Given the description of an element on the screen output the (x, y) to click on. 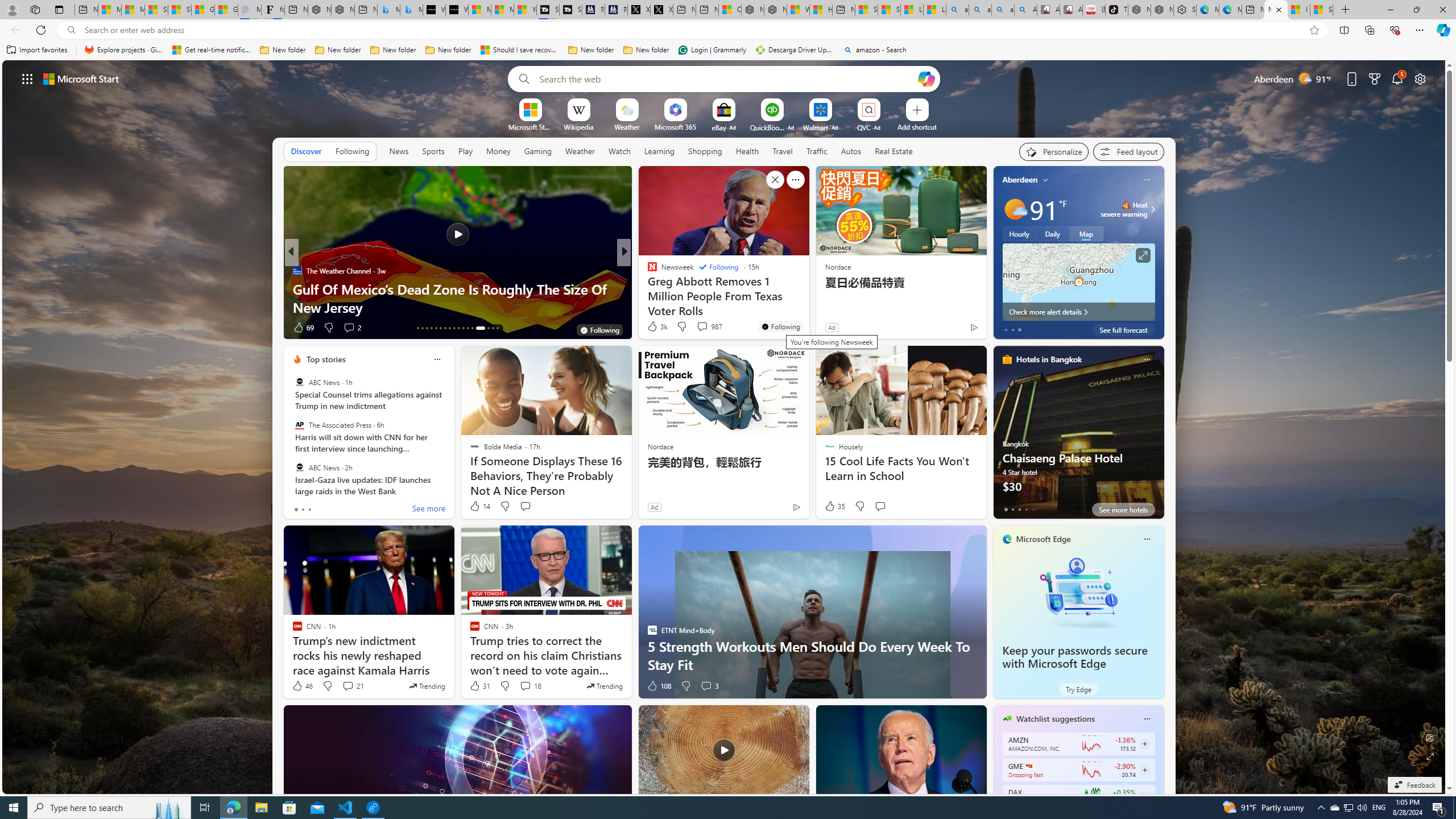
Following (352, 151)
I Gained 20 Pounds of Muscle in 30 Days! | Watch (1298, 9)
Dislike (685, 685)
Microsoft Start Sports (479, 9)
View comments 85 Comment (698, 327)
Chaisaeng Palace Hotel (1078, 436)
Weather (580, 151)
Watch (619, 151)
View comments 21 Comment (352, 685)
